Given the description of an element on the screen output the (x, y) to click on. 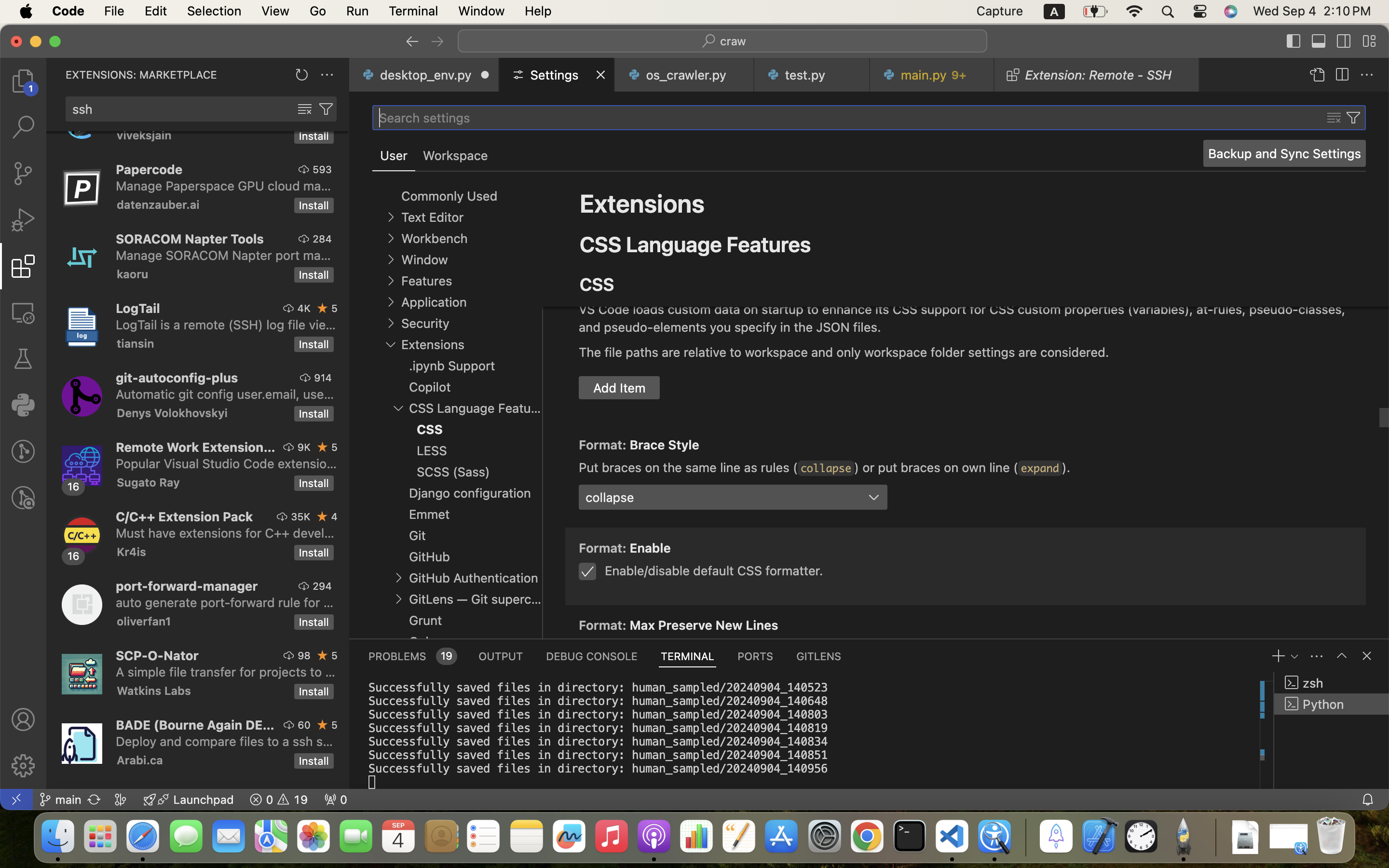
0 PORTS Element type: AXRadioButton (755, 655)
 Element type: AXGroup (23, 451)
LogTail is a remote (SSH) log file viewer and monitoring extension. Element type: AXStaticText (225, 324)
Manage SORACOM Napter port mappings from Visual Studio Code. Element type: AXStaticText (222, 254)
914 Element type: AXStaticText (322, 377)
